Given the description of an element on the screen output the (x, y) to click on. 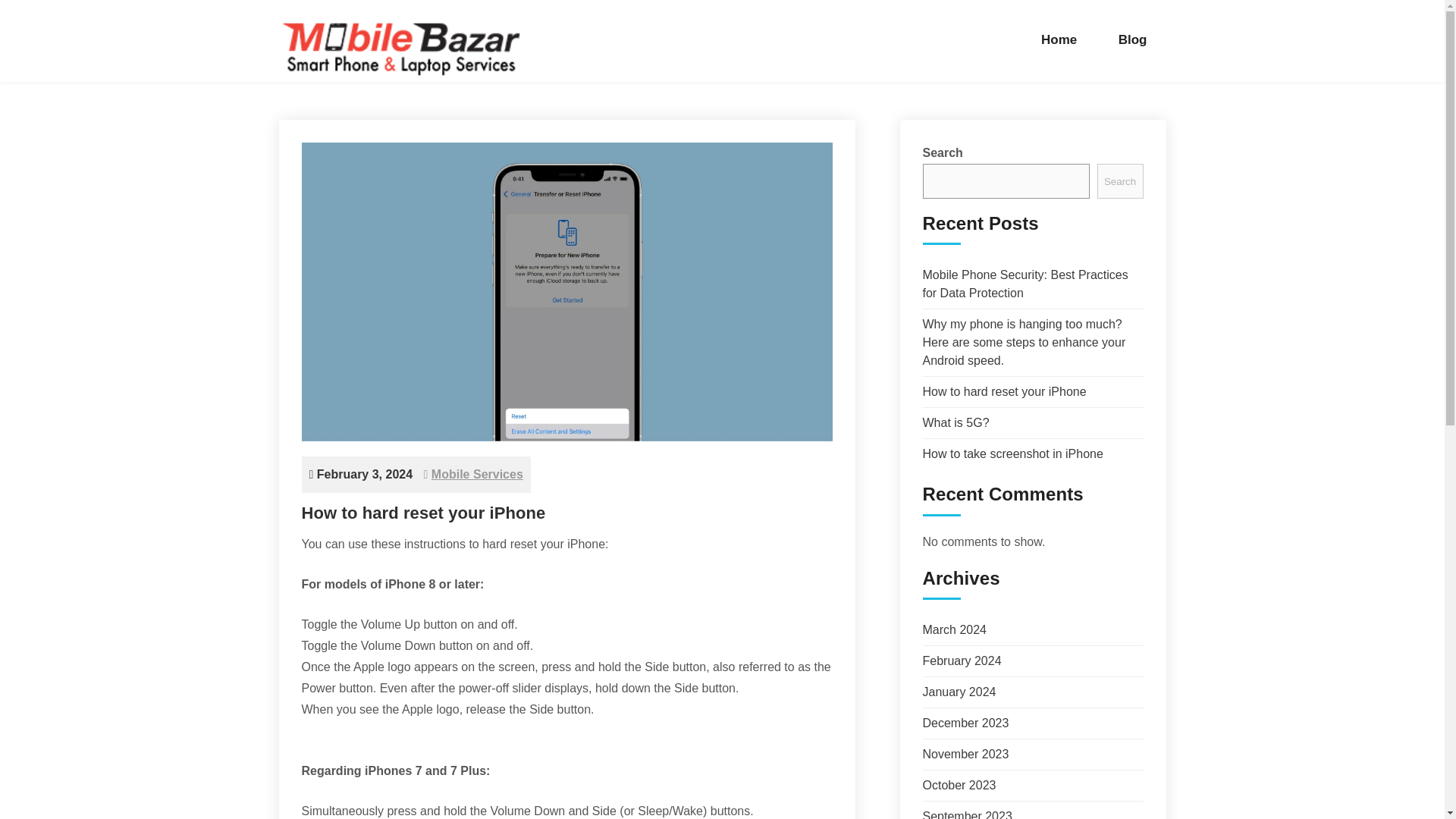
Home (1059, 39)
How to hard reset your iPhone (1003, 391)
October 2023 (958, 784)
How to take screenshot in iPhone (1011, 453)
Search (1119, 181)
What is 5G? (954, 422)
Mobile Services (476, 473)
December 2023 (965, 722)
March 2024 (954, 629)
Mobile Phone Security: Best Practices for Data Protection (1023, 283)
Blog (1132, 39)
September 2023 (966, 814)
February 2024 (961, 660)
January 2024 (958, 691)
